Given the description of an element on the screen output the (x, y) to click on. 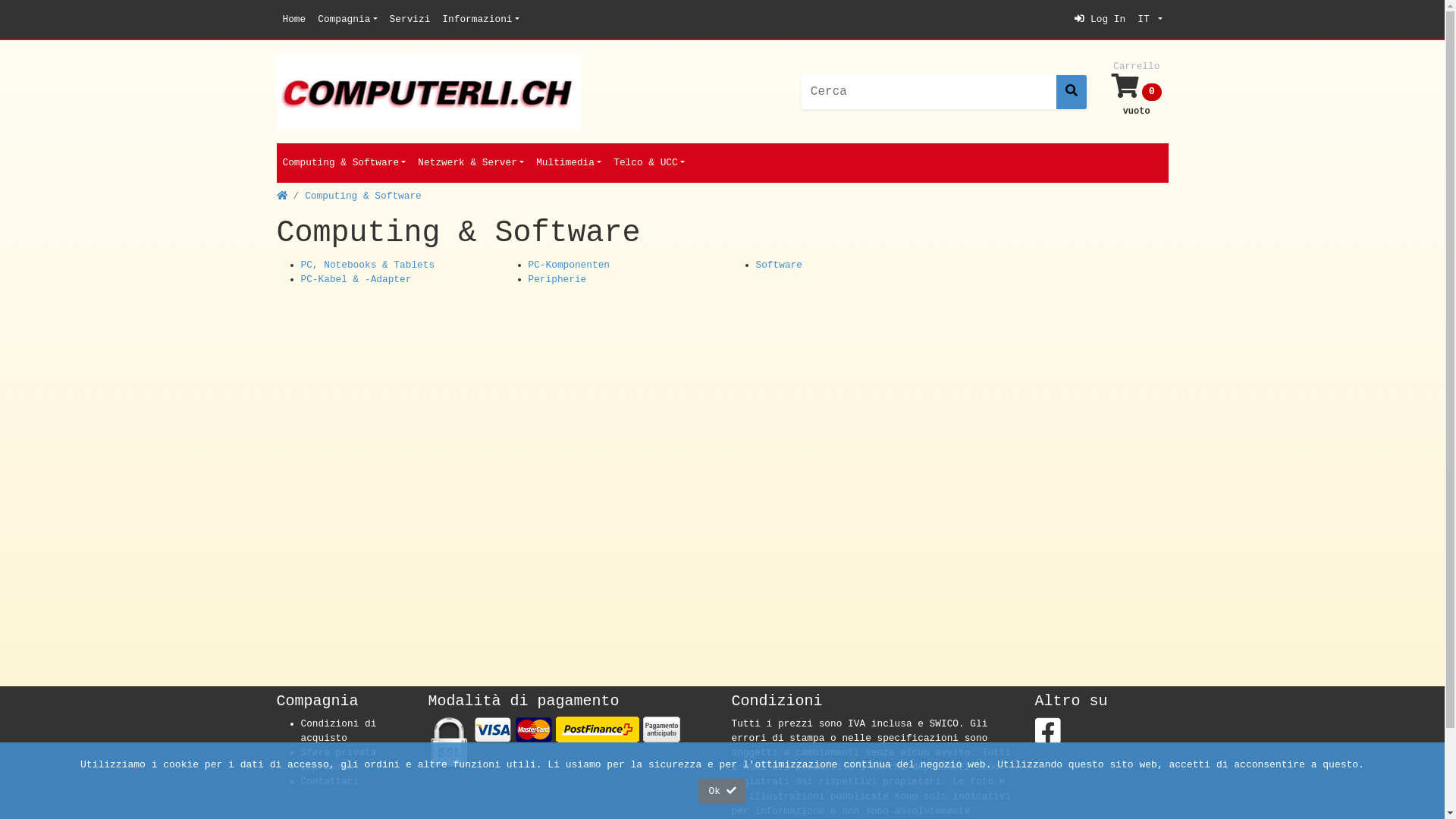
Log In Element type: text (1099, 19)
Compagnia Element type: text (346, 19)
PC-Kabel & -Adapter Element type: text (355, 279)
Netzwerk & Server Element type: text (470, 162)
Computing & Software Element type: text (343, 162)
Ok Element type: text (721, 790)
Carrello
0
vuoto Element type: text (1136, 91)
Contattaci Element type: text (329, 781)
Informazioni Element type: text (480, 19)
Servizi Element type: text (409, 19)
PC-Komponenten Element type: text (568, 264)
ricerca Element type: hover (1071, 92)
PC, Notebooks & Tablets Element type: text (367, 264)
Telco & UCC Element type: text (648, 162)
Multimedia Element type: text (568, 162)
IT Element type: text (1149, 19)
Home Element type: text (293, 19)
Impressum Element type: text (326, 766)
Sfera privata Element type: text (338, 752)
Software Element type: text (778, 264)
Computing & Software Element type: text (362, 195)
Peripherie Element type: text (556, 279)
Condizioni di acquisto Element type: text (338, 730)
